Given the description of an element on the screen output the (x, y) to click on. 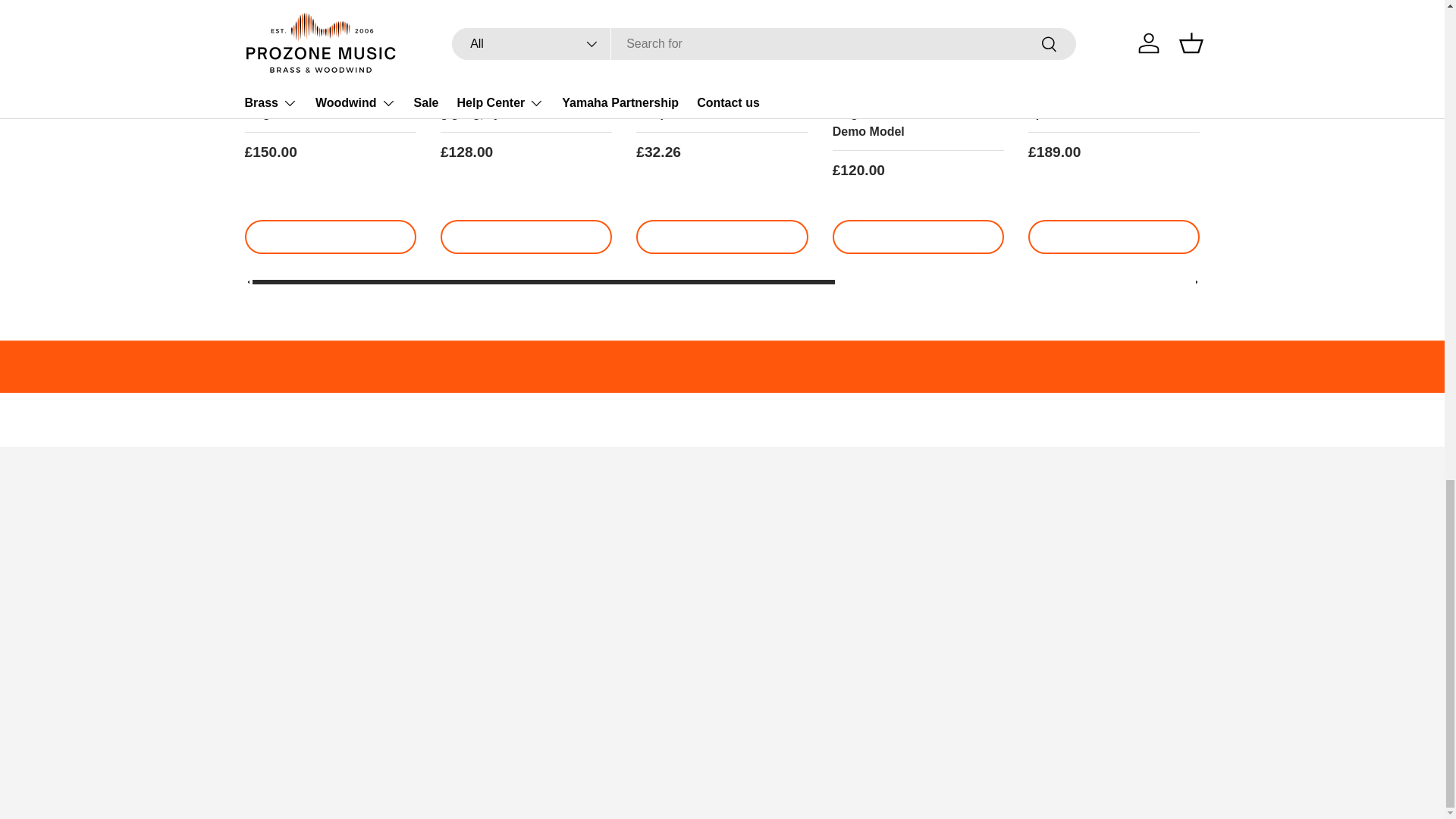
Black (1431, 192)
